Given the description of an element on the screen output the (x, y) to click on. 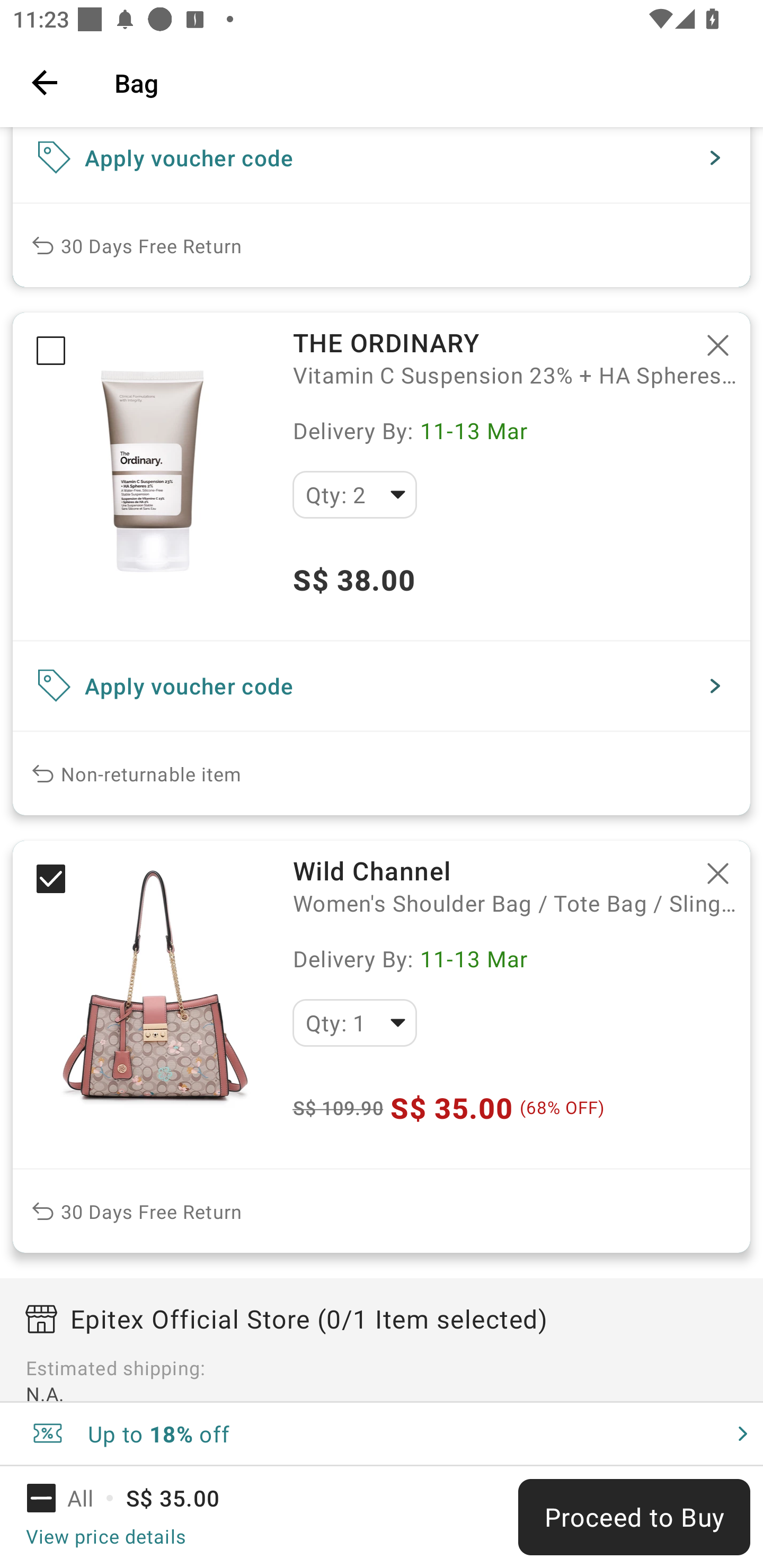
Navigate up (44, 82)
Bag (426, 82)
Apply voucher code 30 Days Free Return (381, 206)
Apply voucher code (381, 164)
Qty: 2 (354, 494)
Apply voucher code (381, 685)
Qty: 1 (354, 1022)
Up to 18% off (381, 1433)
All (72, 1497)
Proceed to Buy (634, 1516)
View price details (105, 1535)
